Given the description of an element on the screen output the (x, y) to click on. 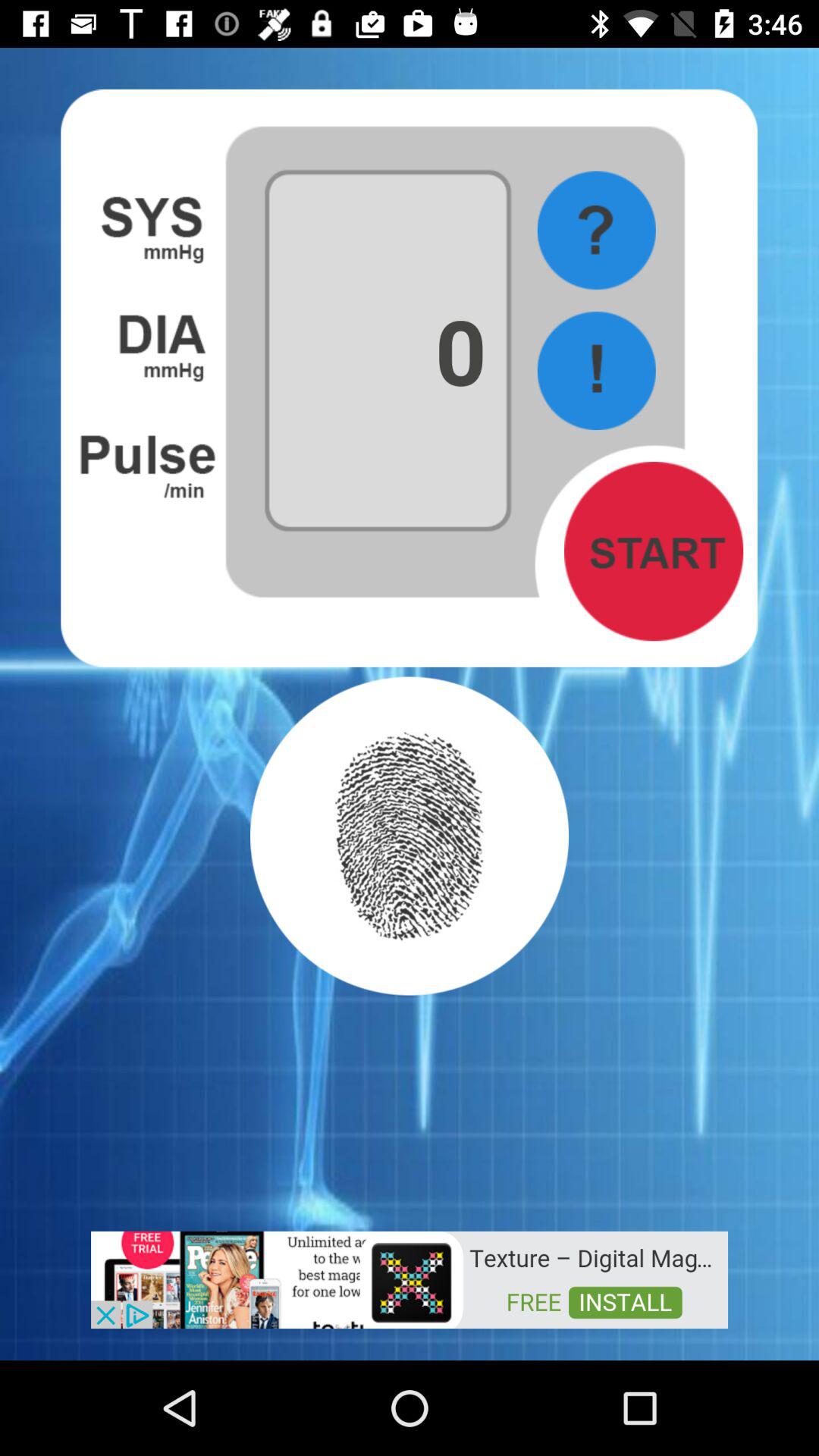
swipe fingerprint (409, 835)
